Given the description of an element on the screen output the (x, y) to click on. 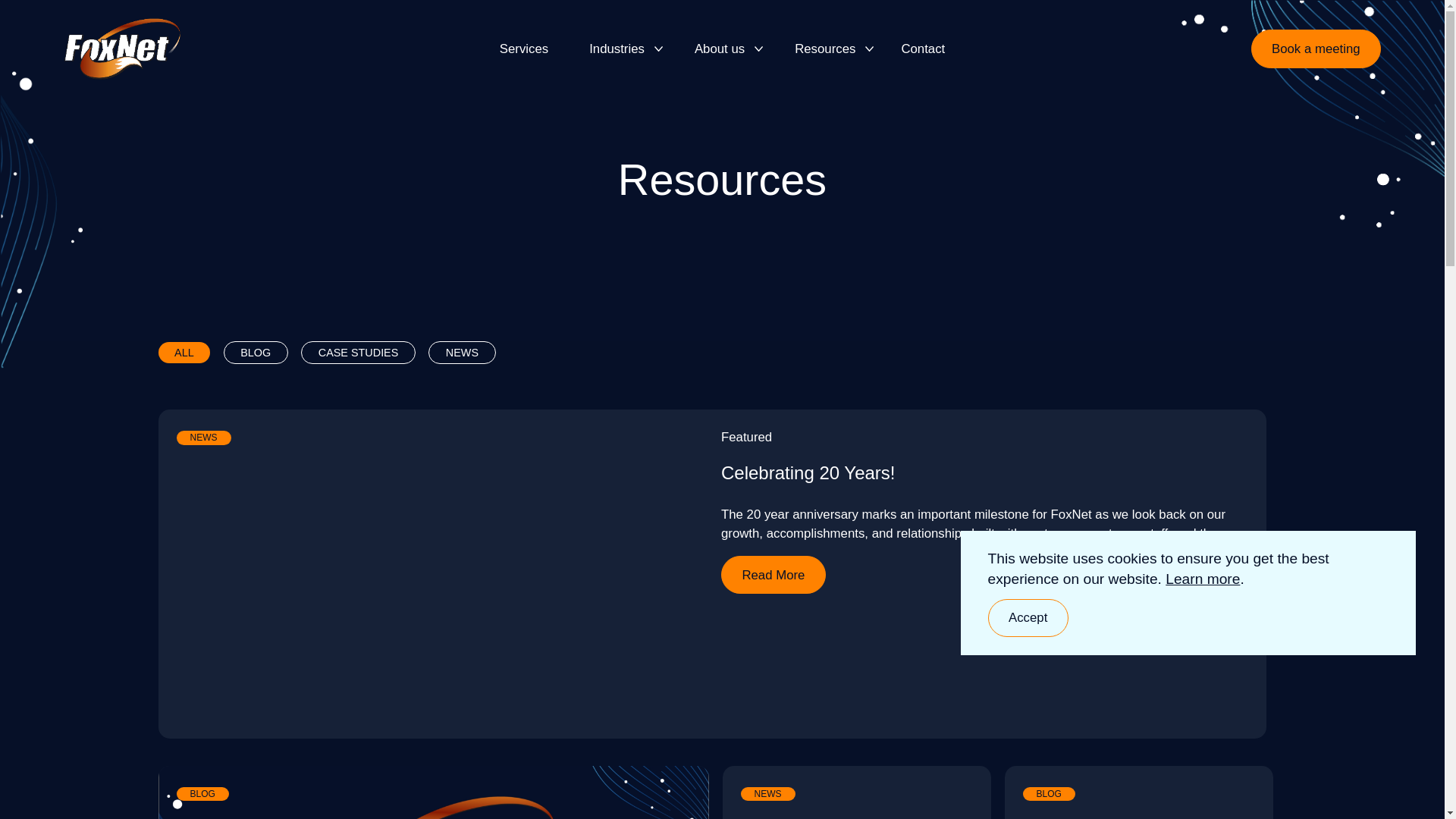
Book a meeting (1315, 48)
Learn more (1203, 578)
Industries (618, 48)
Accept (1028, 617)
Contact (922, 48)
Resources (826, 48)
CASE STUDIES (357, 352)
NEWS (461, 352)
